Given the description of an element on the screen output the (x, y) to click on. 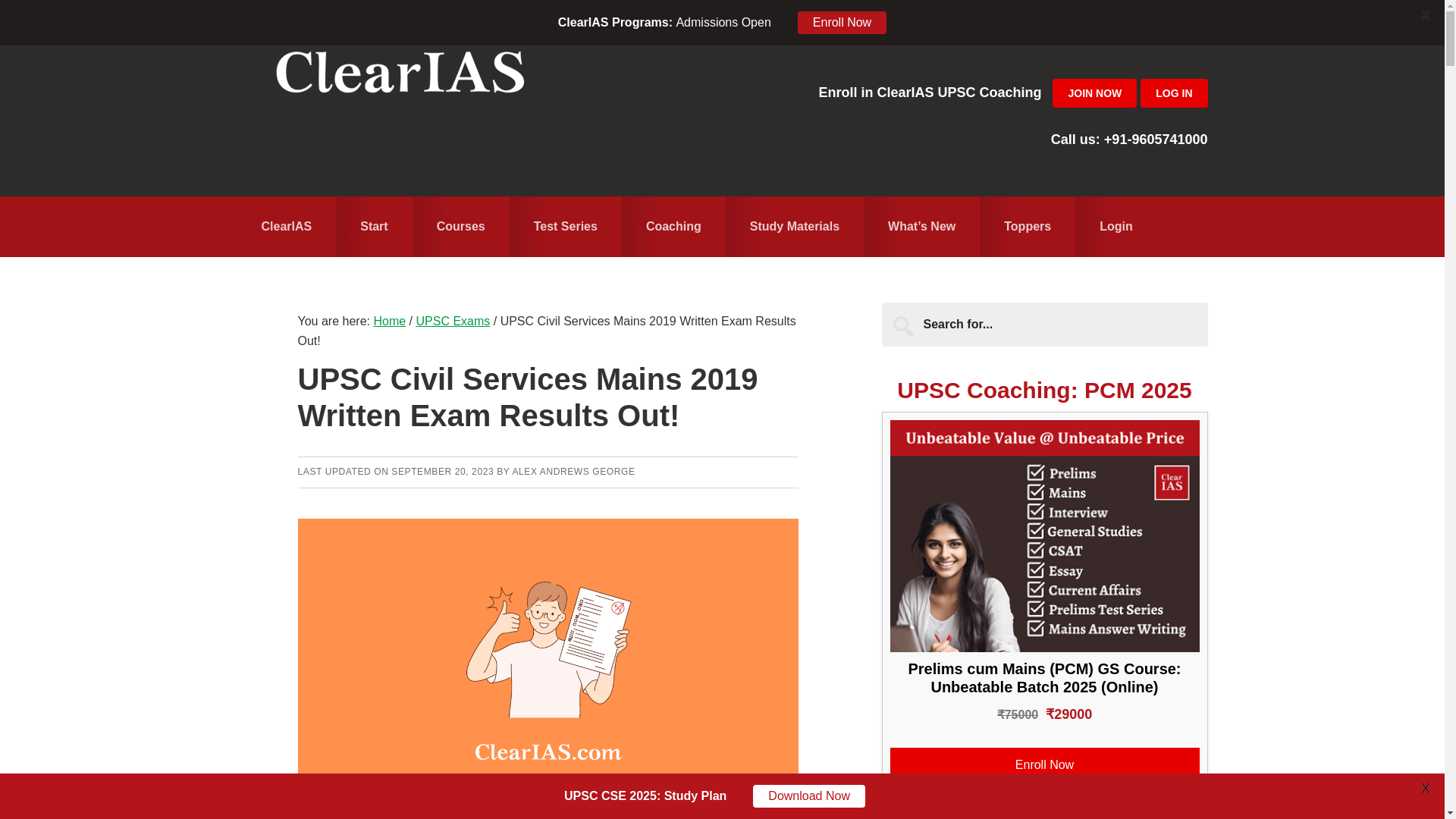
Home (285, 226)
UPSC Test Series (565, 226)
Study Materials (794, 226)
ClearIAS Courses (460, 226)
Courses (460, 226)
LOG IN (1173, 92)
Coaching (673, 226)
Login (1116, 226)
JOIN NOW (1094, 92)
